Given the description of an element on the screen output the (x, y) to click on. 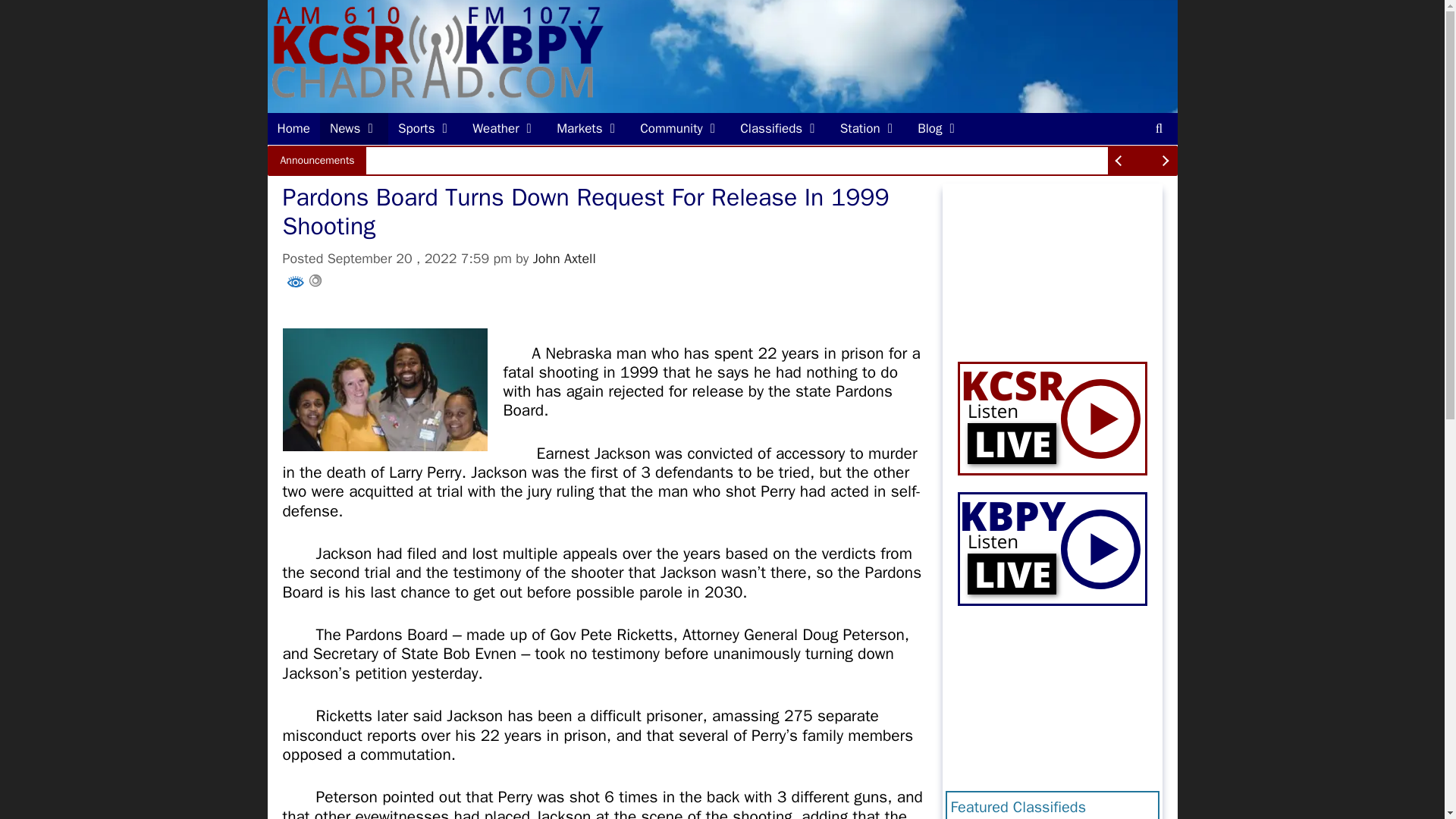
Community (680, 128)
Sports (425, 128)
Home (292, 128)
Classifieds (779, 128)
Markets (588, 128)
News (354, 128)
View all posts by John Axtell (563, 258)
Weather (505, 128)
